Given the description of an element on the screen output the (x, y) to click on. 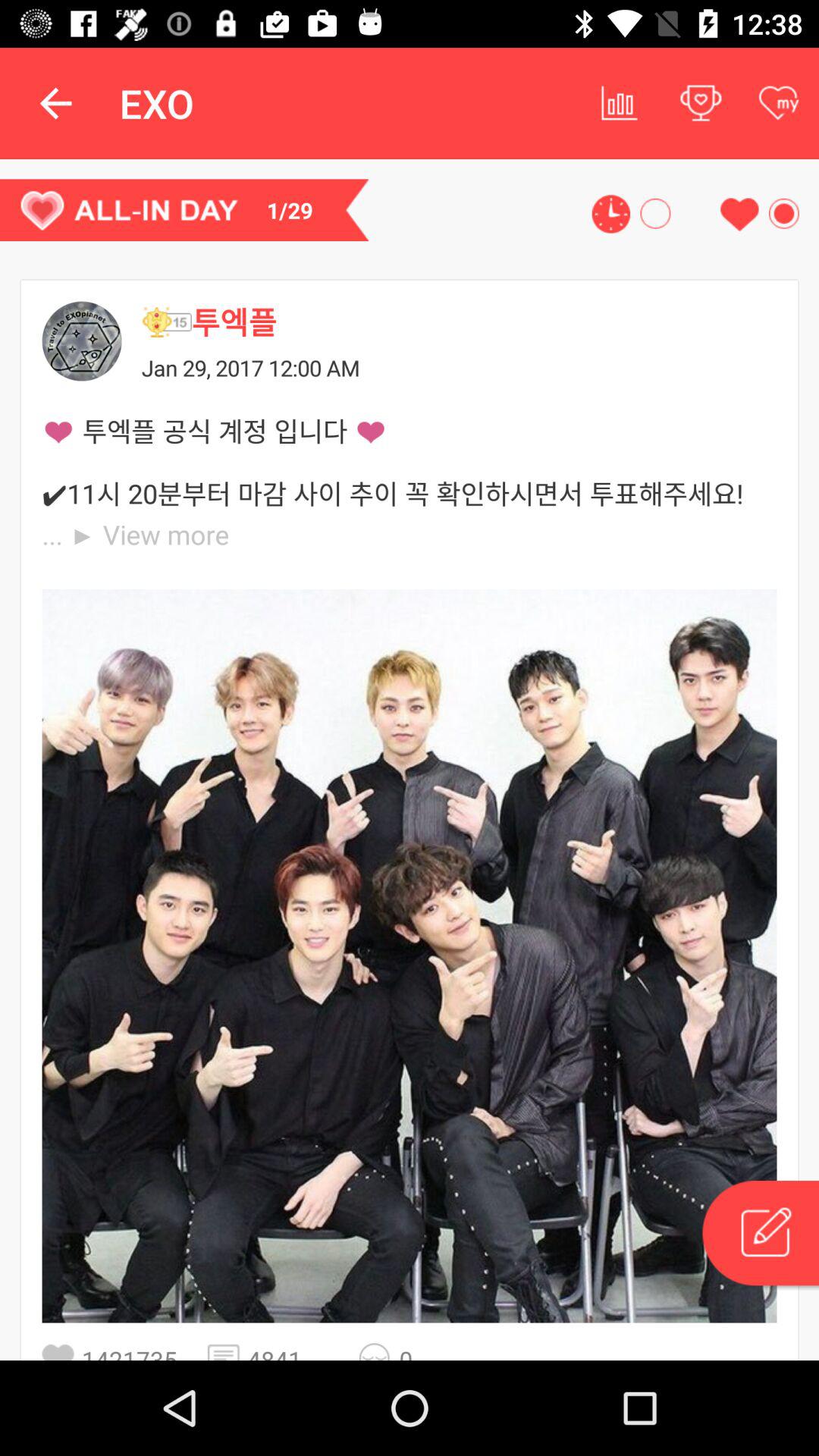
view profile (81, 341)
